Given the description of an element on the screen output the (x, y) to click on. 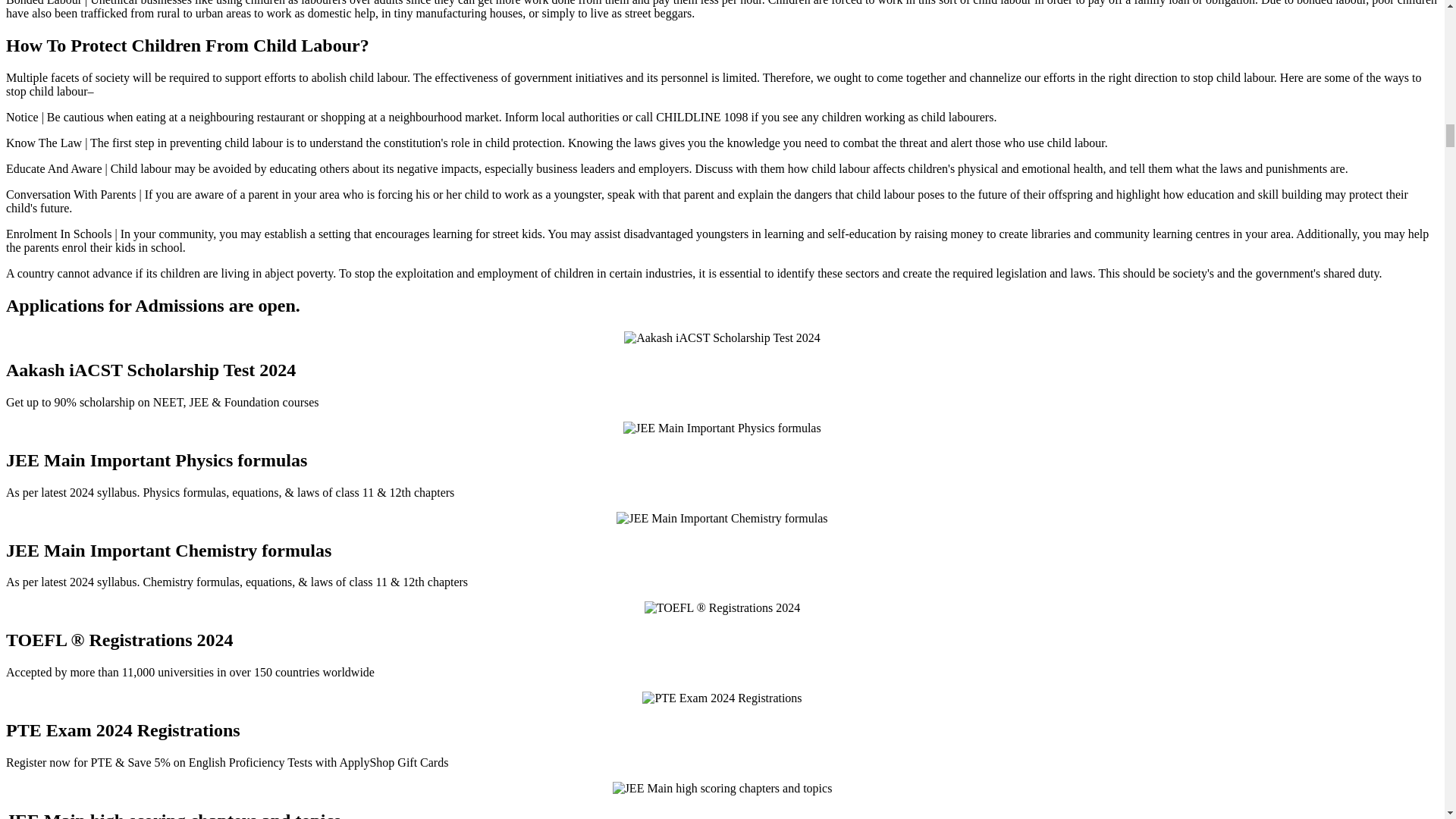
child labour best essay (722, 608)
child labour best essay (722, 337)
child labour best essay (721, 518)
child labour best essay (722, 698)
child labour best essay (722, 788)
child labour best essay (722, 427)
